Given the description of an element on the screen output the (x, y) to click on. 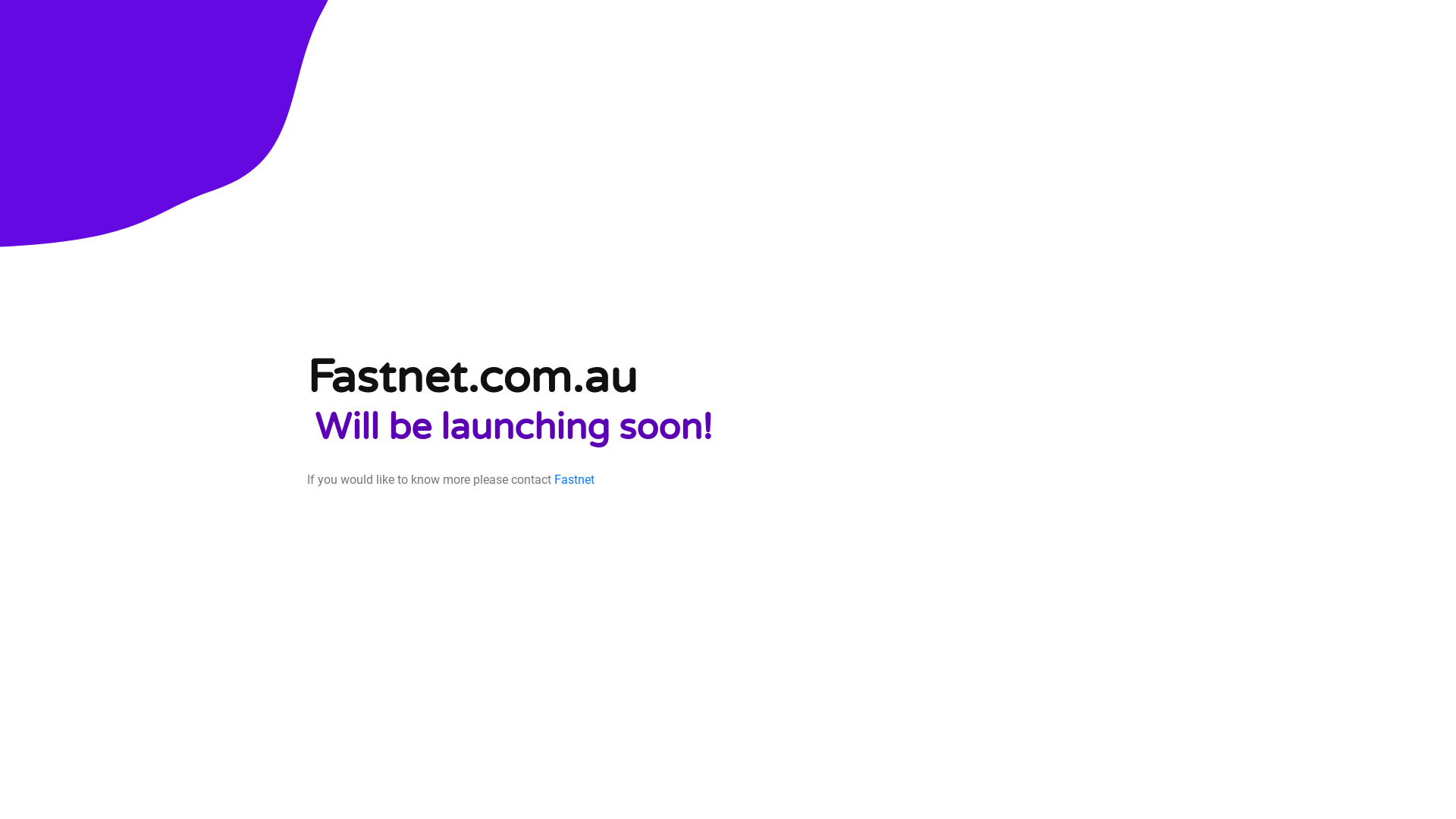
Fastnet Element type: text (574, 479)
